Given the description of an element on the screen output the (x, y) to click on. 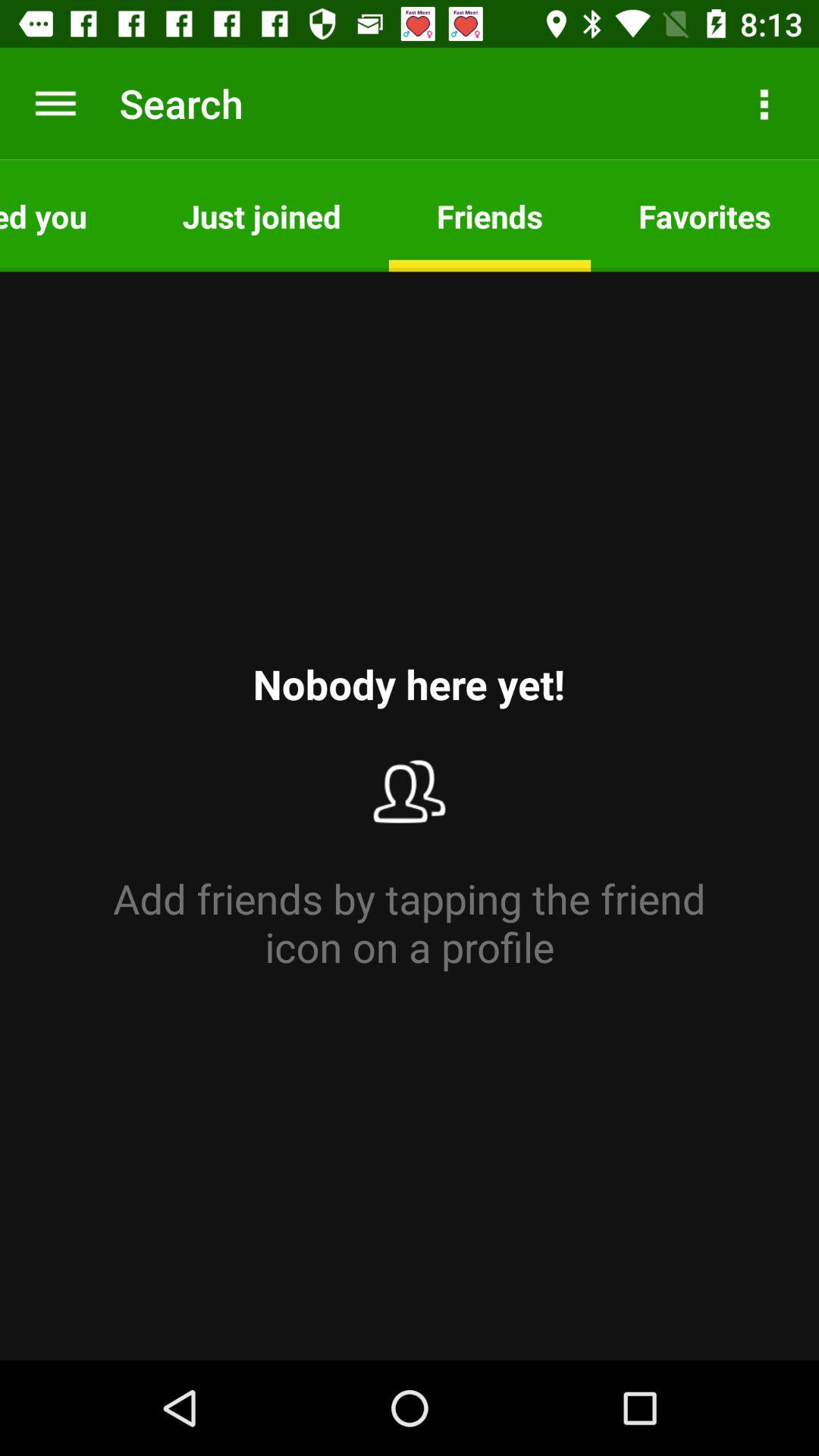
turn on the item to the right of friends item (704, 215)
